Given the description of an element on the screen output the (x, y) to click on. 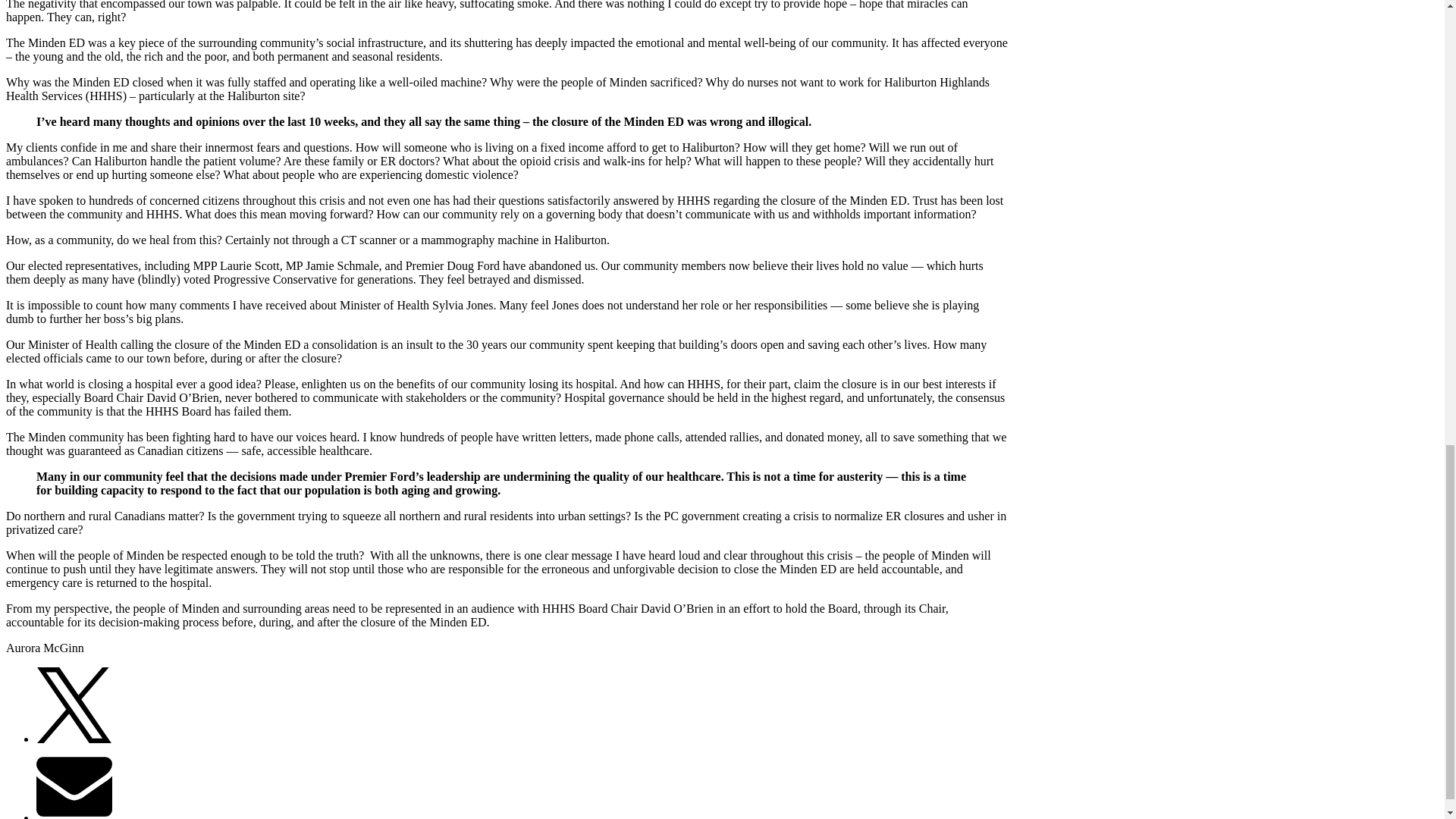
Twitter (74, 738)
